Given the description of an element on the screen output the (x, y) to click on. 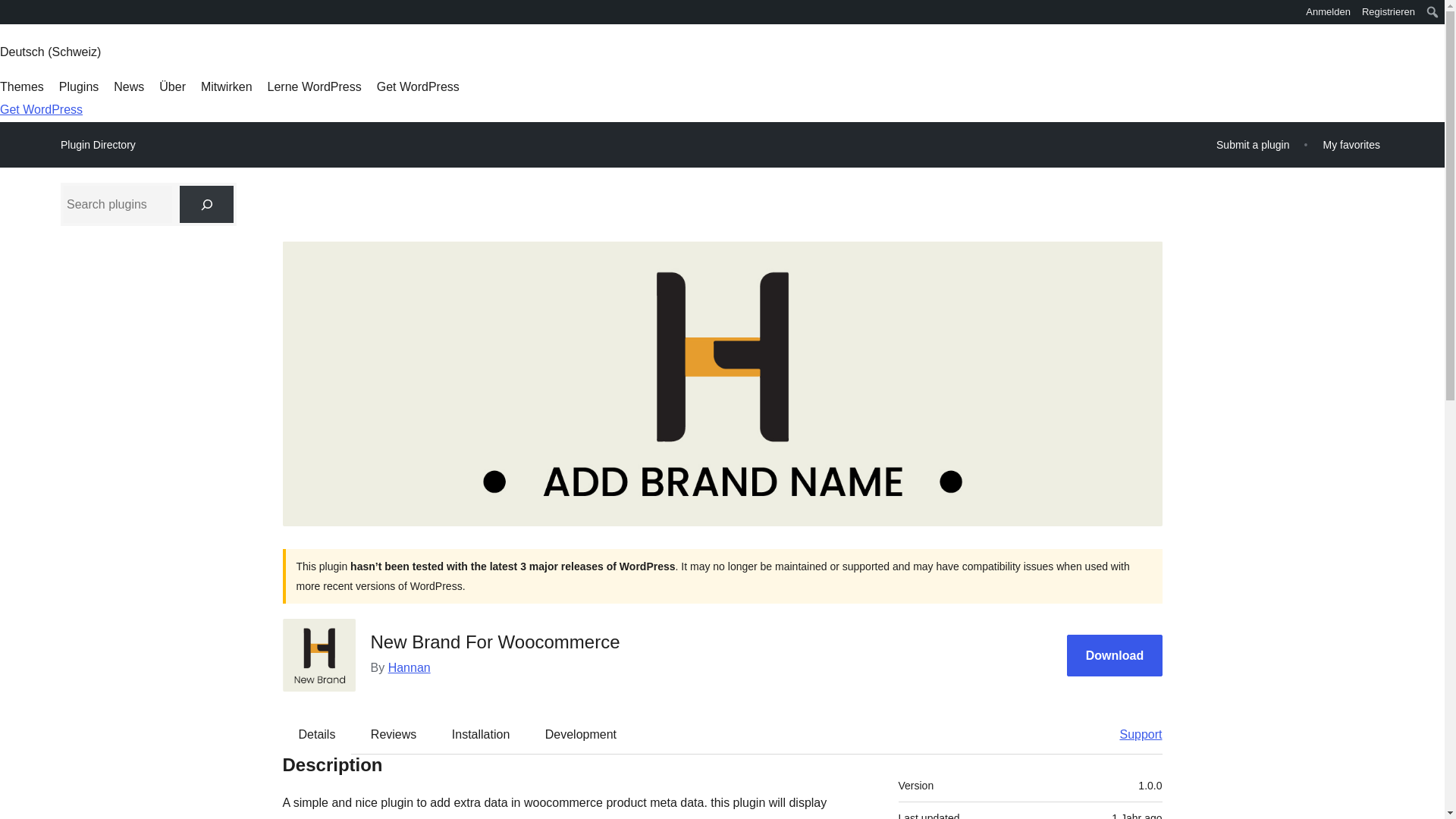
Details (316, 733)
Reviews (392, 733)
Installation (480, 733)
Lerne WordPress (314, 87)
WordPress.org (10, 16)
Development (580, 733)
My favorites (1351, 144)
Get WordPress (418, 87)
Submit a plugin (1253, 144)
Support (1132, 733)
